Given the description of an element on the screen output the (x, y) to click on. 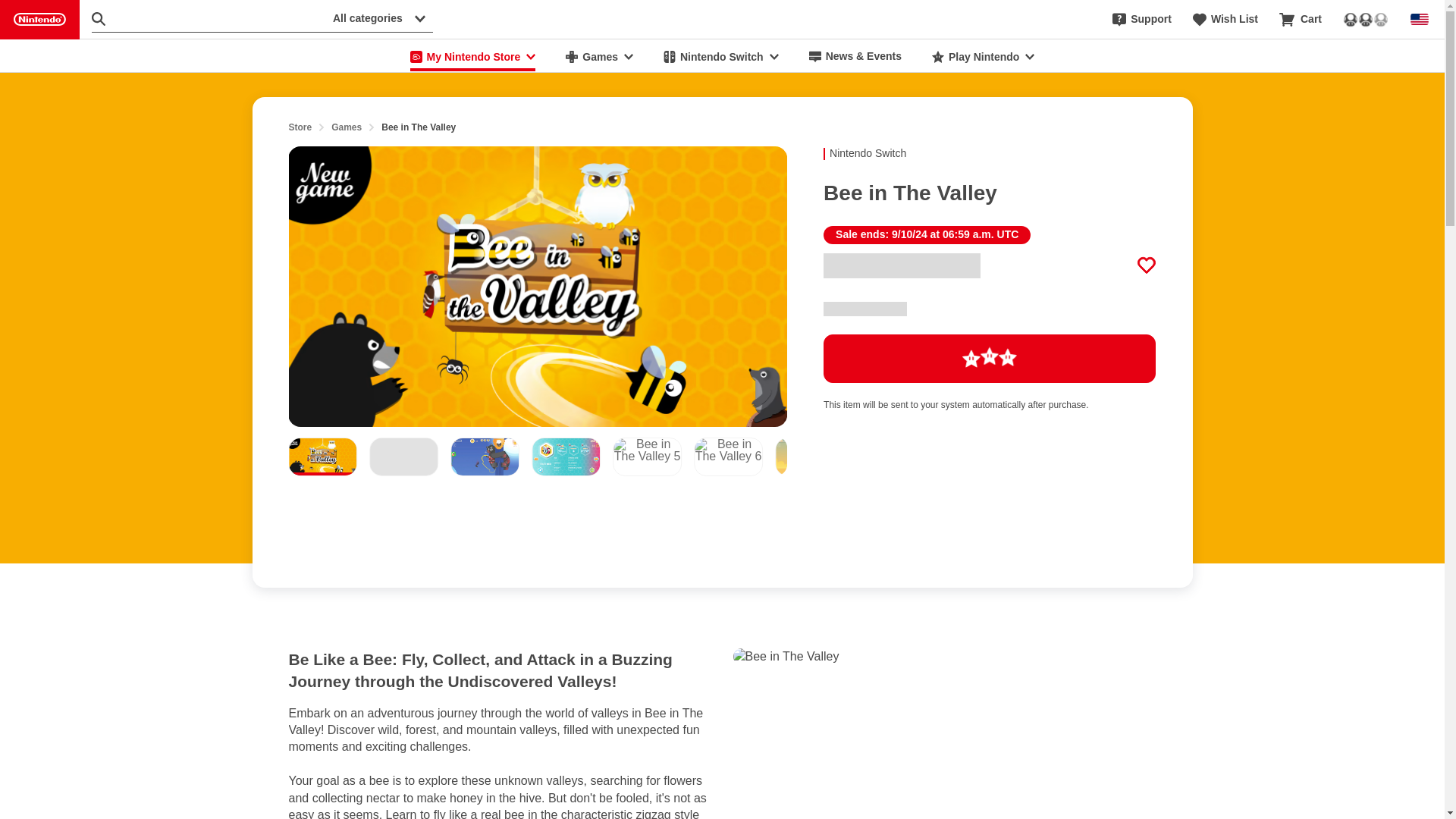
Nintendo (40, 19)
Support (1142, 19)
Games (346, 127)
Cart (1300, 19)
My Nintendo Store (472, 56)
Add to Wish List (1146, 265)
Wish List (1224, 19)
Play Nintendo (983, 56)
Games (599, 56)
Store (299, 127)
